Given the description of an element on the screen output the (x, y) to click on. 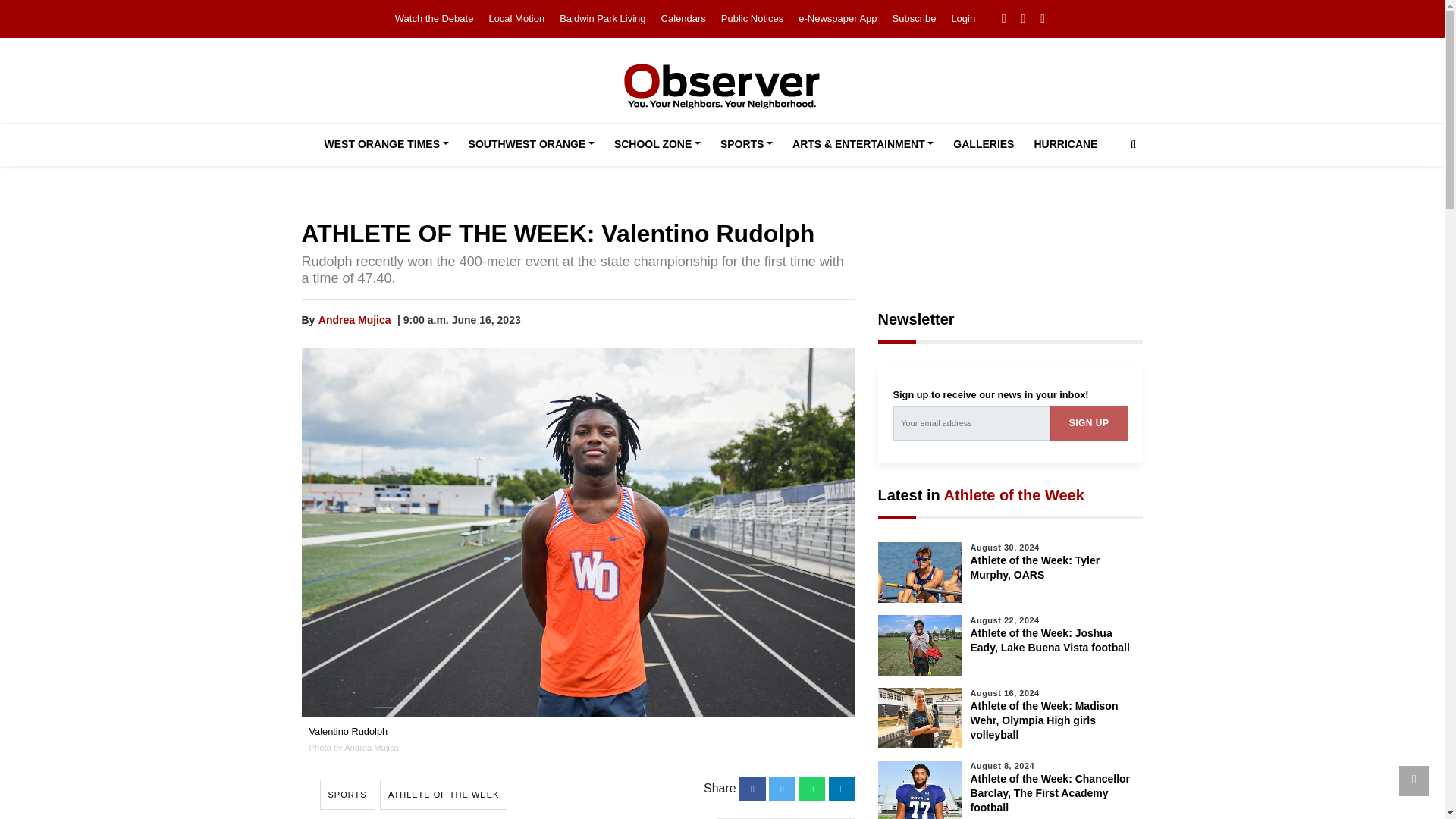
Public Notices (751, 18)
SCHOOL ZONE (657, 144)
Local Motion (515, 18)
SPORTS (746, 144)
WEST ORANGE TIMES (387, 144)
e-Newspaper App (836, 18)
SOUTHWEST ORANGE (531, 144)
Login (962, 18)
Subscribe (914, 18)
Calendars (683, 18)
